Given the description of an element on the screen output the (x, y) to click on. 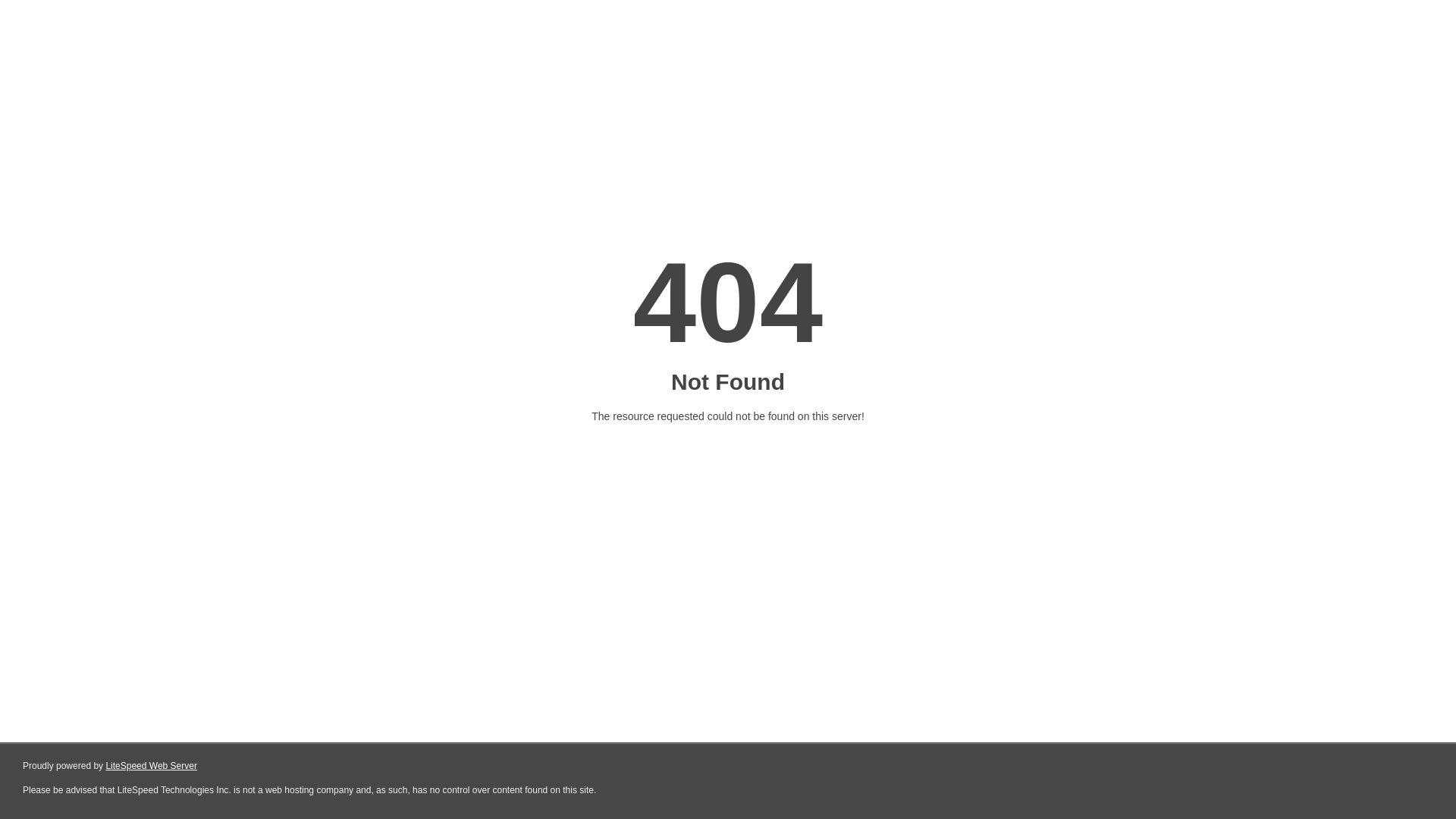
LiteSpeed Web Server (150, 765)
